Given the description of an element on the screen output the (x, y) to click on. 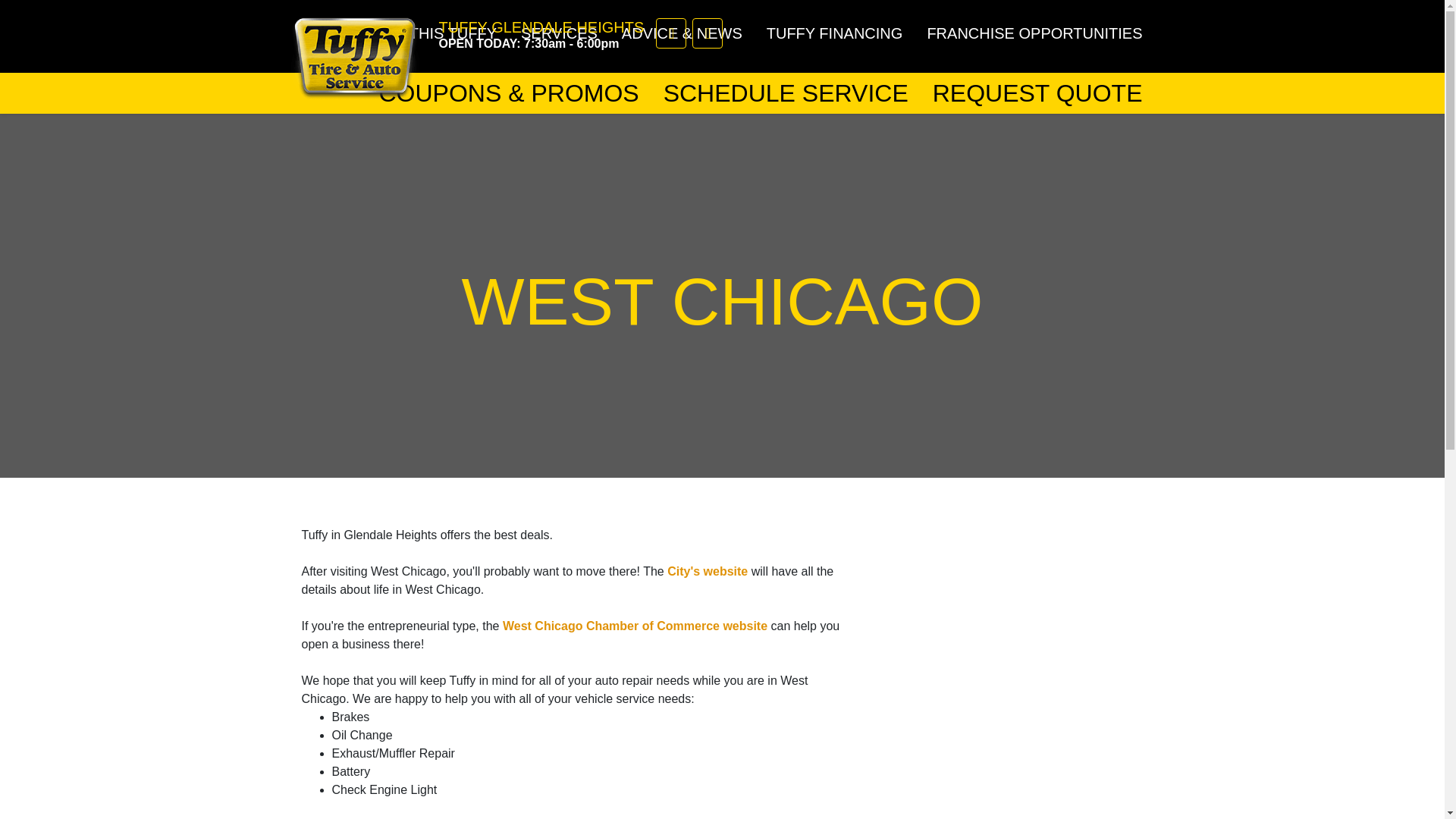
SCHEDULE SERVICE (785, 92)
Directions (707, 33)
Phone (670, 33)
FRANCHISE OPPORTUNITIES (1034, 33)
TUFFY FINANCING (834, 33)
Tuffy Glendale Heights (354, 54)
REQUEST QUOTE (1037, 92)
SERVICES (559, 33)
ABOUT THIS TUFFY (424, 33)
OPEN TODAY: 7:30am - 6:00pm (540, 43)
